Given the description of an element on the screen output the (x, y) to click on. 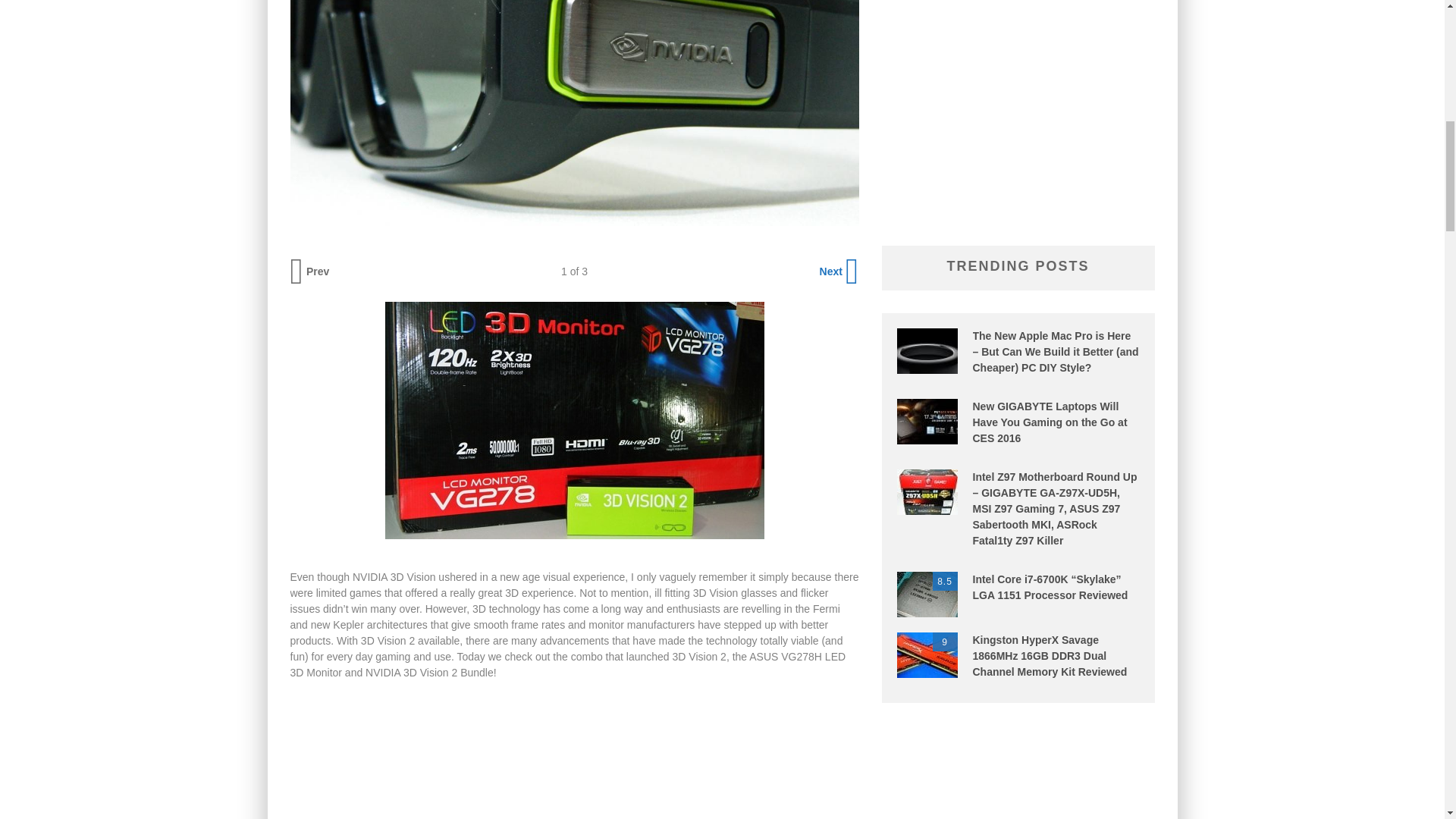
Advertisement (574, 755)
